Given the description of an element on the screen output the (x, y) to click on. 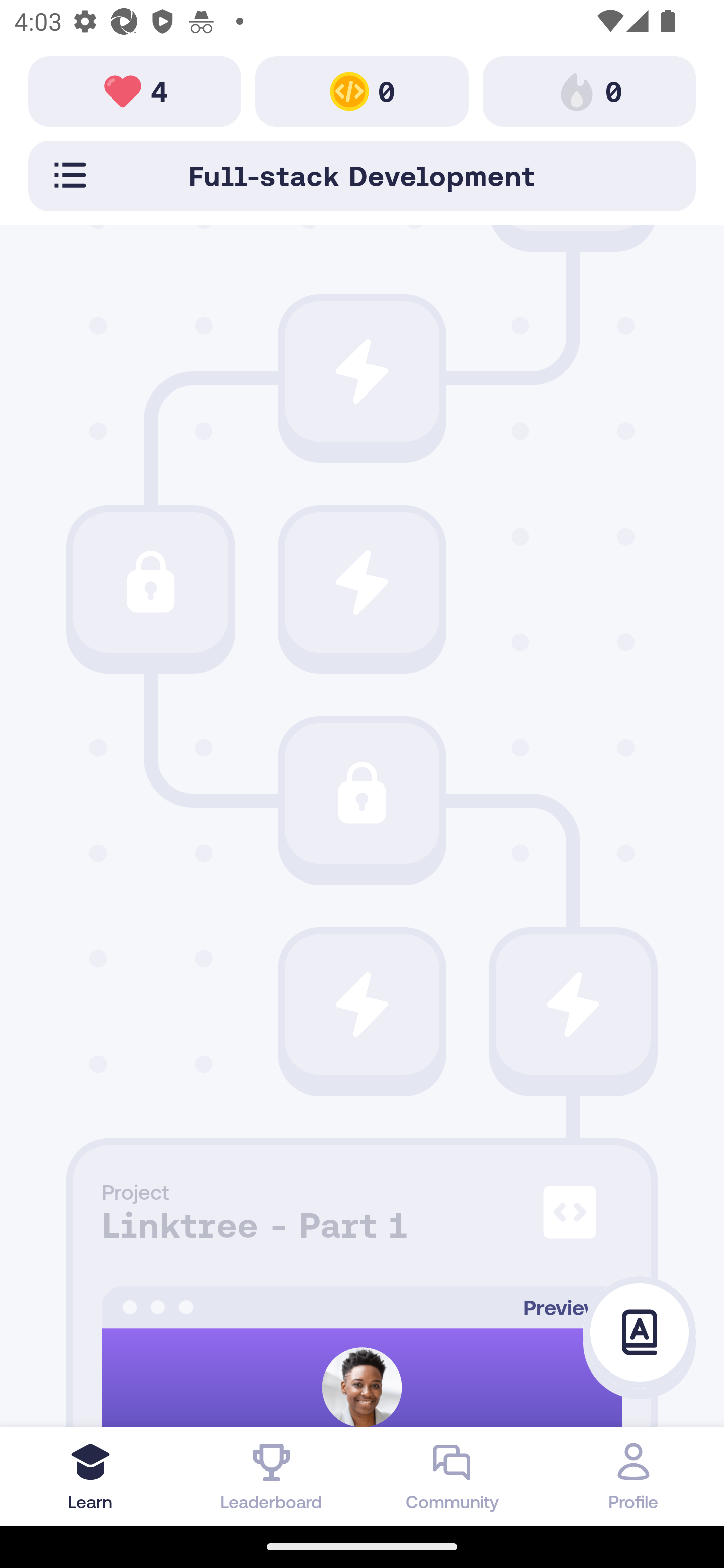
Path Toolbar Image 4 (134, 90)
Path Toolbar Image 0 (361, 90)
Path Toolbar Image 0 (588, 90)
Path Toolbar Selector Full-stack Development (361, 175)
Path Icon (361, 371)
Path Icon (150, 582)
Path Icon (361, 582)
Path Icon (361, 792)
Path Icon (361, 1004)
Path Icon (572, 1004)
Glossary Icon (639, 1332)
Leaderboard (271, 1475)
Community (452, 1475)
Profile (633, 1475)
